Given the description of an element on the screen output the (x, y) to click on. 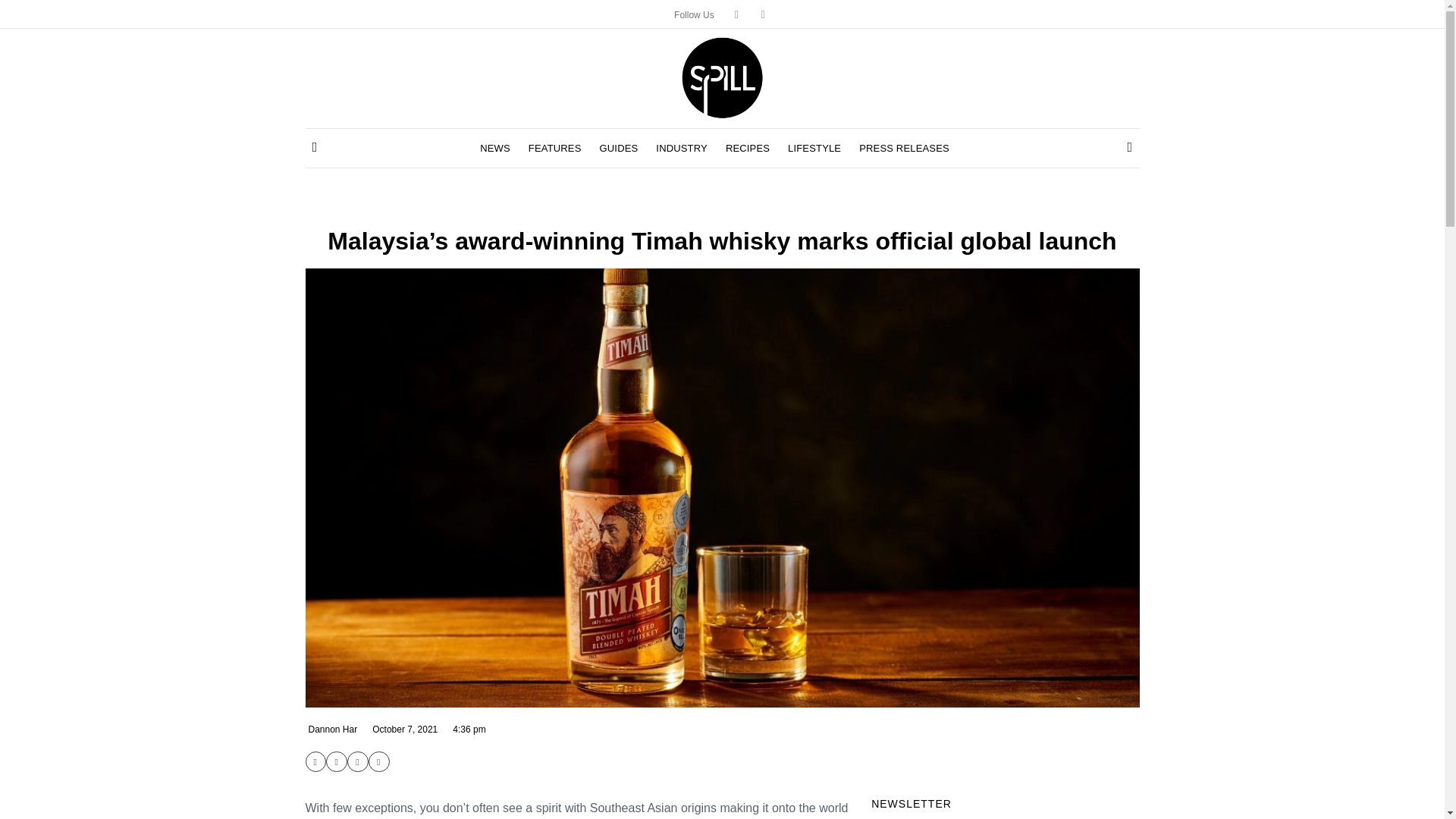
Dannon Har (330, 729)
RECIPES (747, 148)
Logo (722, 75)
LIFESTYLE (814, 148)
PRESS RELEASES (904, 148)
INDUSTRY (681, 148)
October 7, 2021 (403, 729)
GUIDES (619, 148)
FEATURES (554, 148)
